Given the description of an element on the screen output the (x, y) to click on. 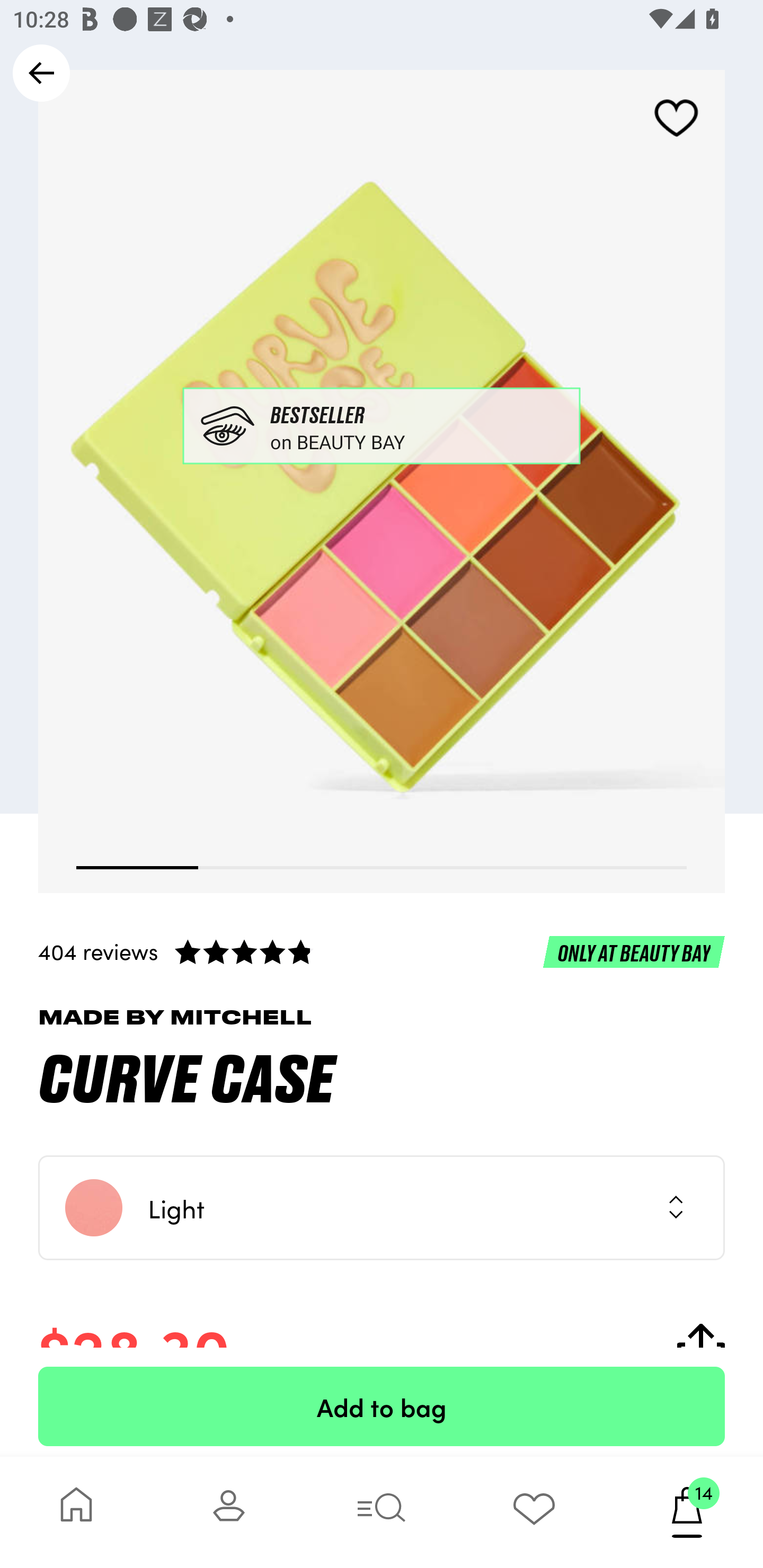
404 reviews (381, 950)
Light  (381, 1207)
Add to bag (381, 1406)
14 (686, 1512)
